Given the description of an element on the screen output the (x, y) to click on. 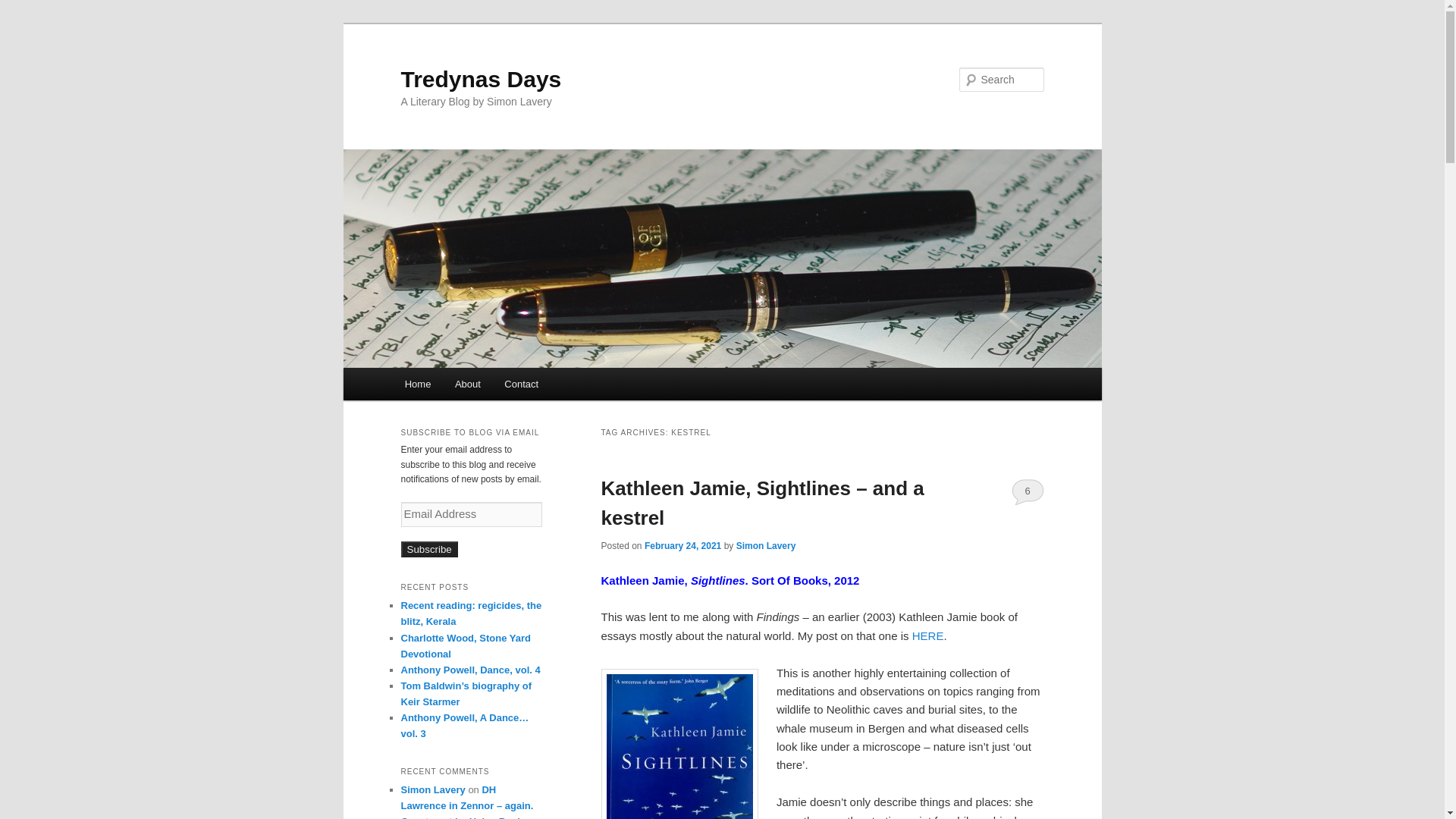
Subscribe (428, 549)
February 24, 2021 (682, 545)
Anthony Powell, Dance, vol. 4 (470, 669)
View all posts by Simon Lavery (766, 545)
Search (24, 8)
About (467, 383)
HERE (927, 635)
6 (1027, 491)
Charlotte Wood, Stone Yard Devotional (464, 646)
Tredynas Days (480, 78)
2:25 pm (682, 545)
Recent reading: regicides, the blitz, Kerala (470, 613)
Simon Lavery (432, 789)
Contact (521, 383)
